Given the description of an element on the screen output the (x, y) to click on. 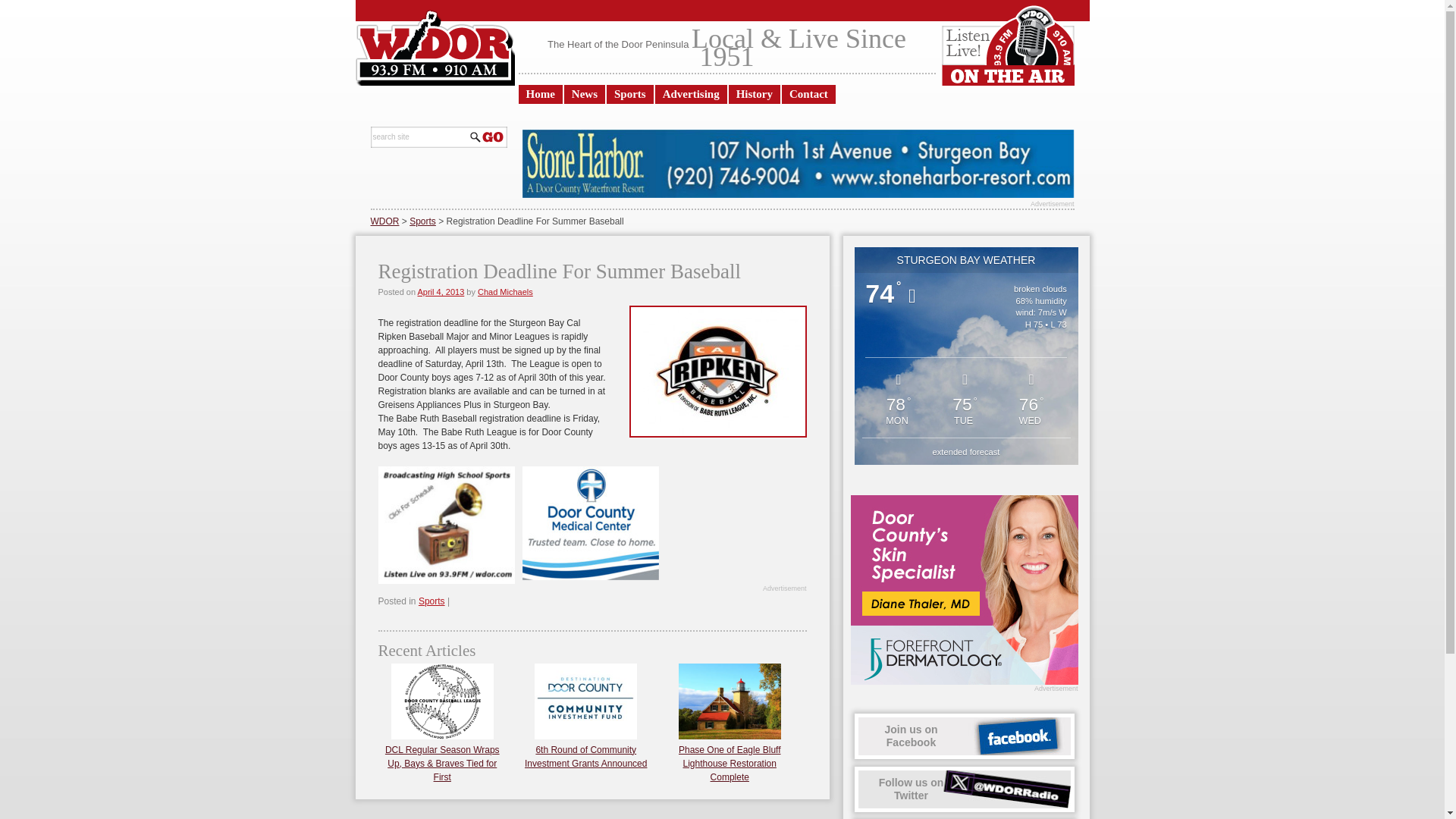
DCMC (589, 522)
Phase One of Eagle Bluff Lighthouse Restoration Complete (729, 763)
View all posts by Chad Michaels (504, 291)
Home (540, 94)
8:38 AM (964, 789)
Sports (440, 291)
extended forecast (422, 221)
Sports Schedule (966, 451)
